Given the description of an element on the screen output the (x, y) to click on. 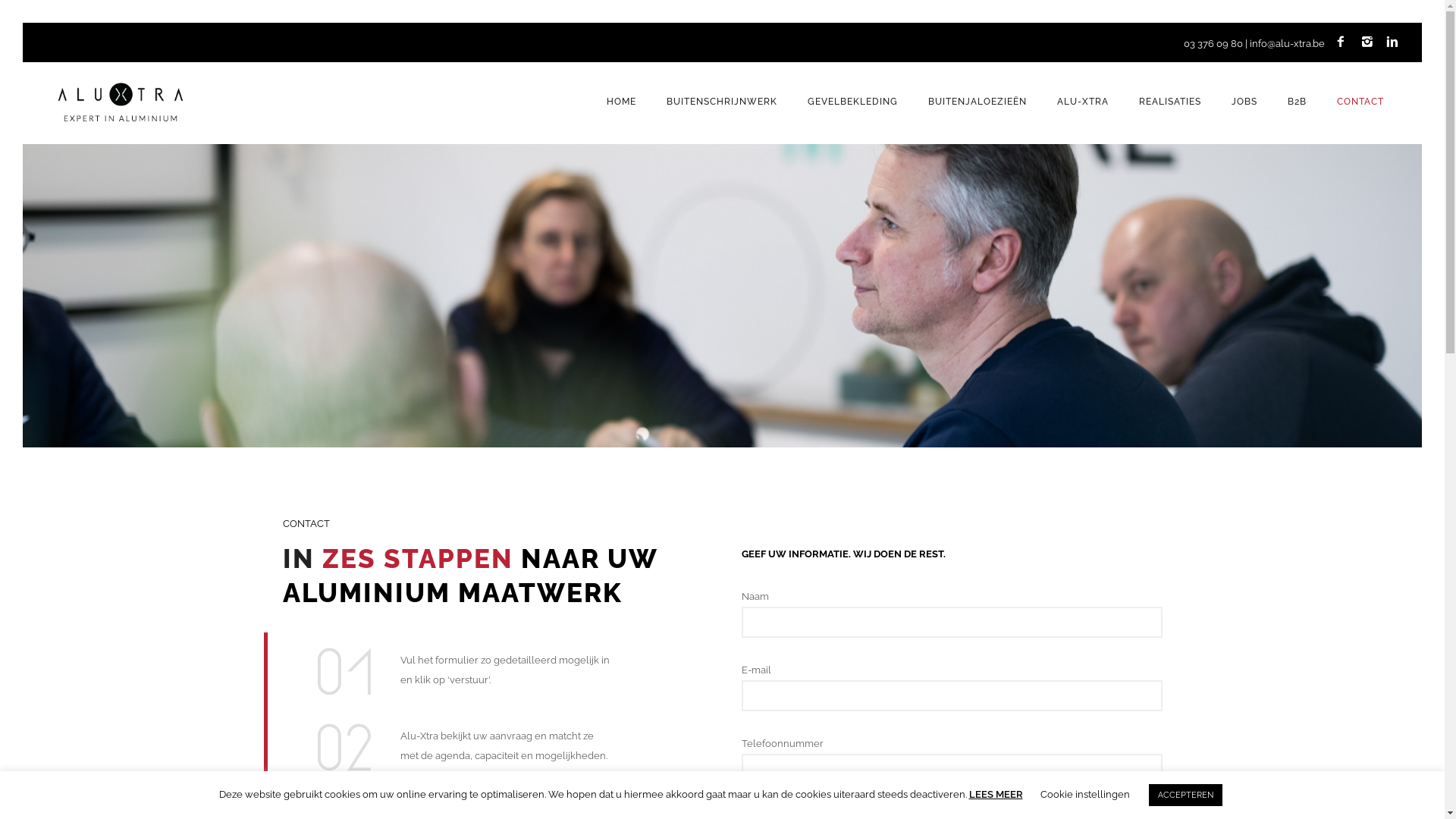
ALU-XTRA Element type: text (1082, 101)
CONTACT Element type: text (1360, 101)
GEVELBEKLEDING Element type: text (852, 101)
LEES MEER Element type: text (995, 794)
Cookie instellingen Element type: text (1084, 794)
info@alu-xtra.be Element type: text (1286, 43)
03 376 09 80 Element type: text (1212, 43)
HOME Element type: text (621, 101)
ACCEPTEREN Element type: text (1184, 795)
REALISATIES Element type: text (1169, 101)
B2B Element type: text (1296, 101)
JOBS Element type: text (1244, 101)
BUITENSCHRIJNWERK Element type: text (721, 101)
